Given the description of an element on the screen output the (x, y) to click on. 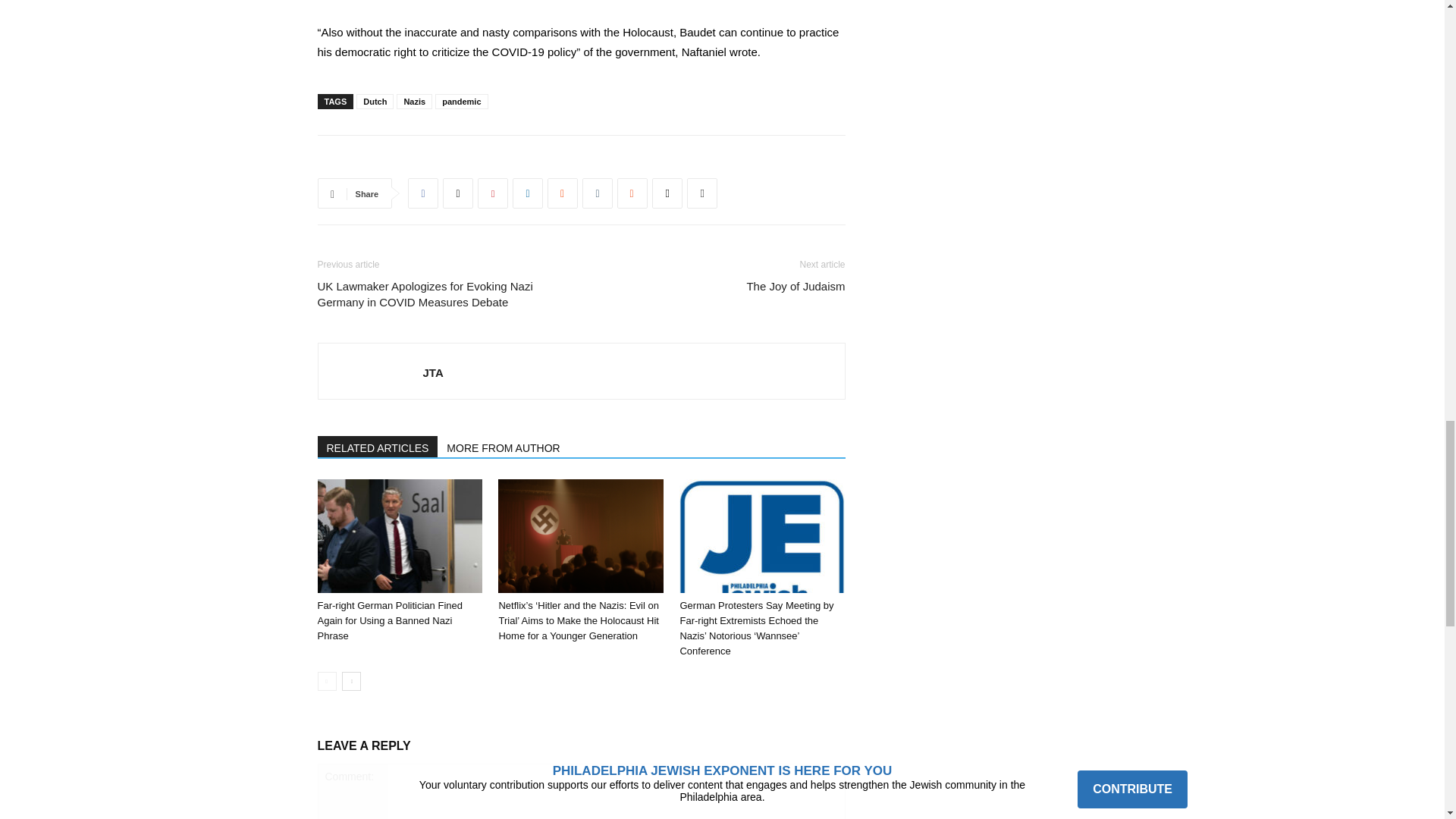
bottomFacebookLike (430, 159)
Facebook (422, 193)
Twitter (457, 193)
